Given the description of an element on the screen output the (x, y) to click on. 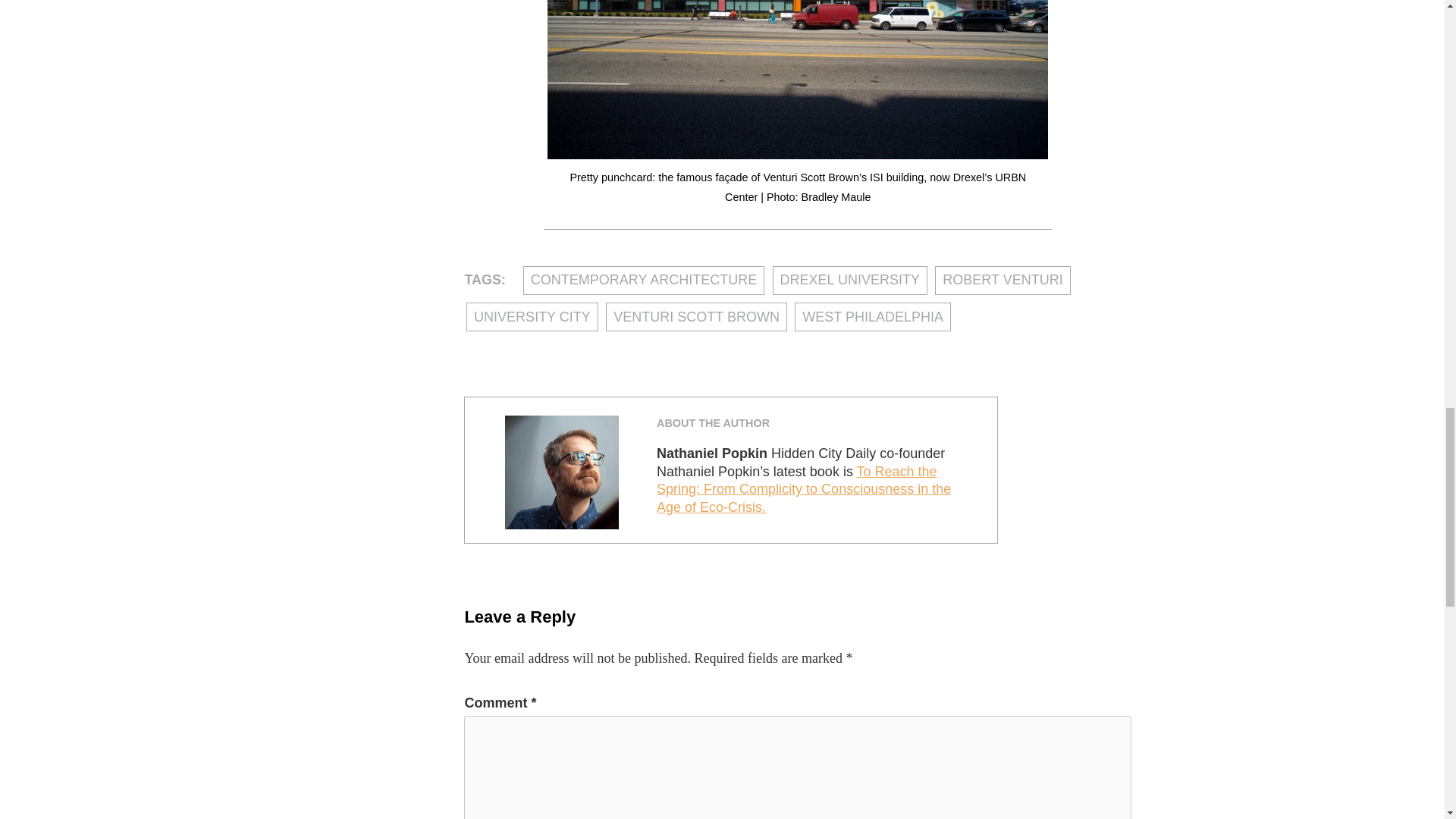
VENTURI SCOTT BROWN (696, 316)
UNIVERSITY CITY (531, 316)
DREXEL UNIVERSITY (850, 280)
CONTEMPORARY ARCHITECTURE (643, 280)
WEST PHILADELPHIA (872, 316)
ROBERT VENTURI (1002, 280)
